Given the description of an element on the screen output the (x, y) to click on. 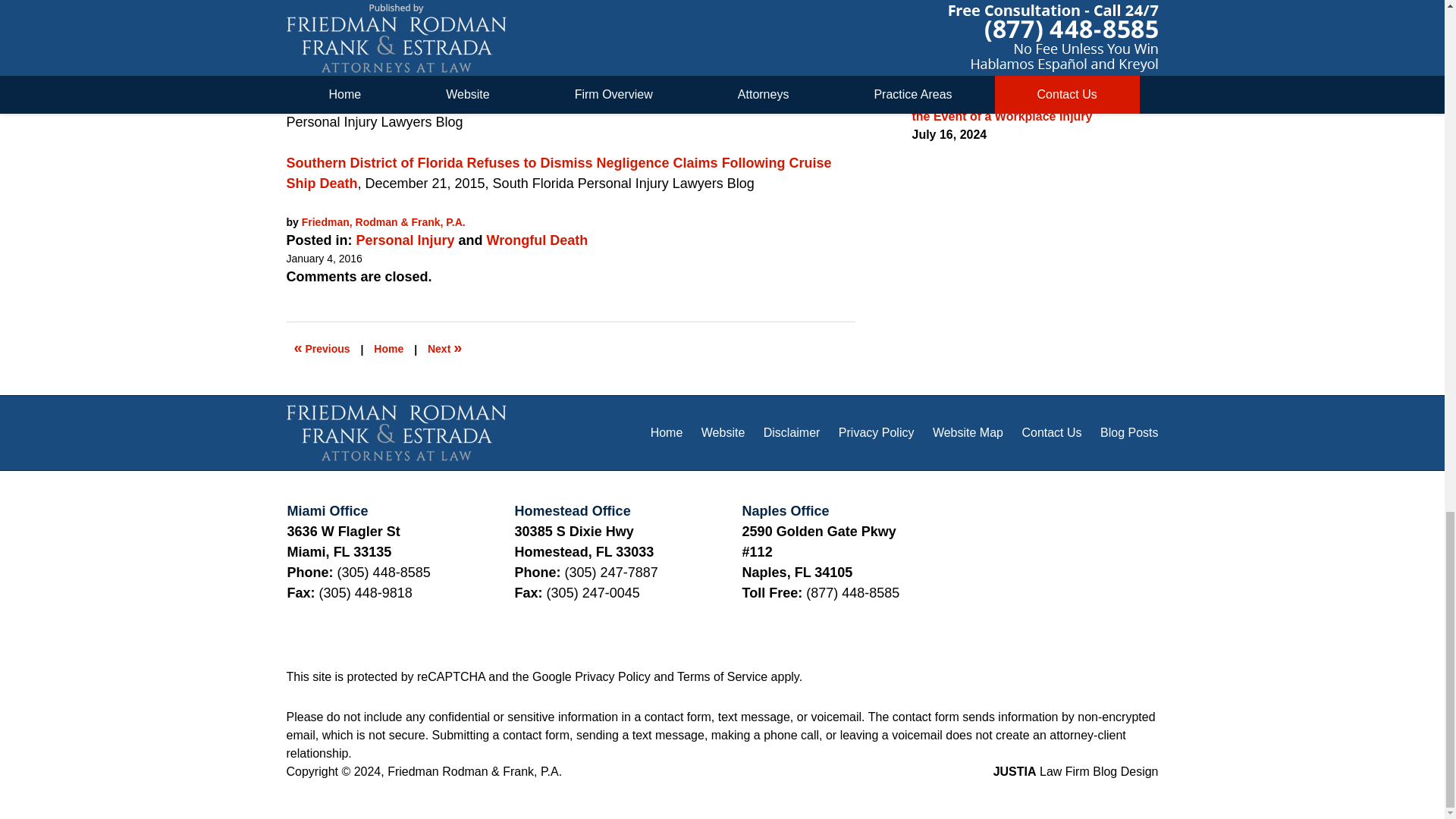
View all posts in Wrongful Death (537, 240)
View all posts in Personal Injury (405, 240)
Personal Injury (405, 240)
Soto v. McCulley Marine Services, Inc. (410, 3)
Wrongful Death (537, 240)
Home (388, 349)
